Given the description of an element on the screen output the (x, y) to click on. 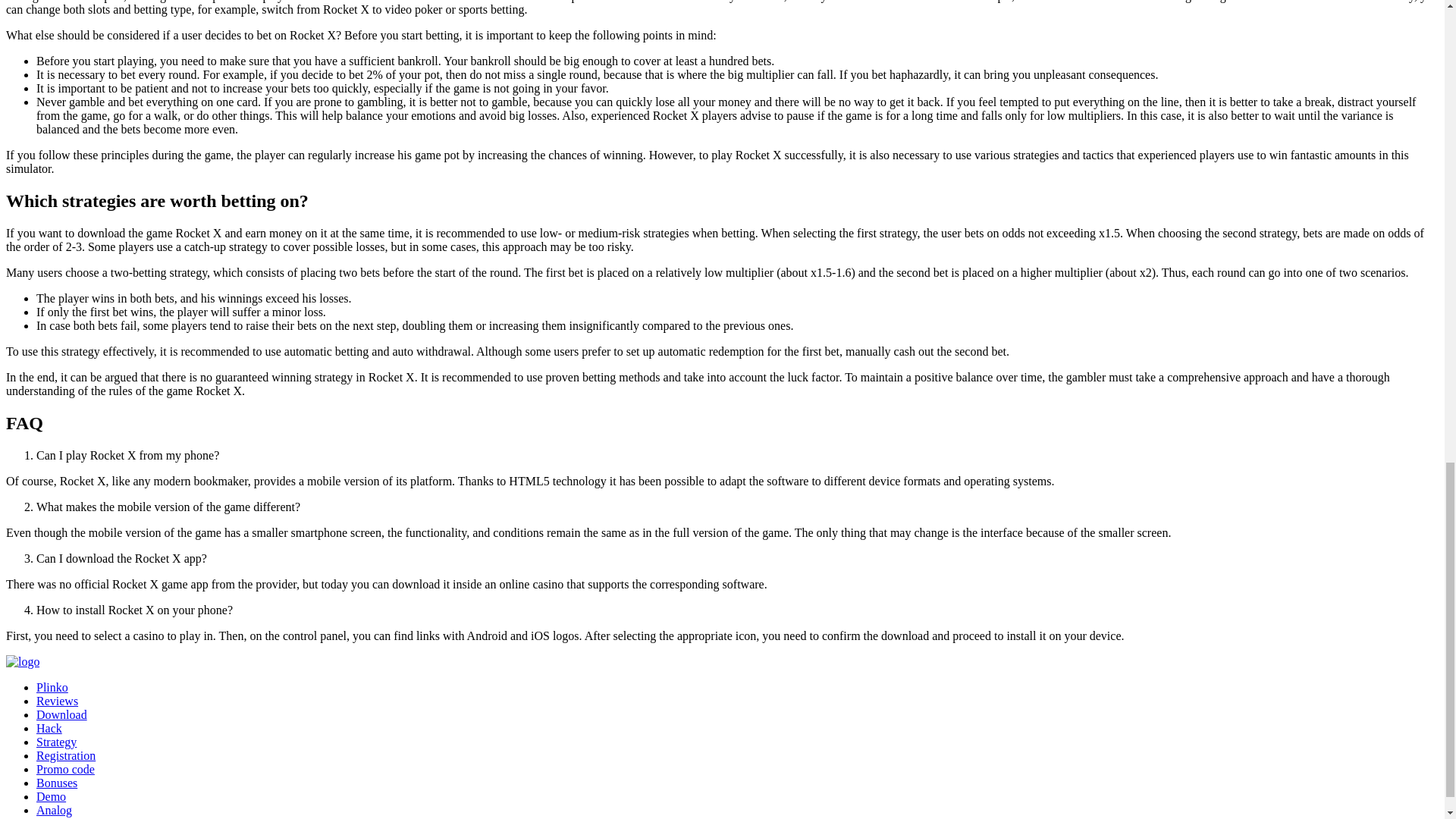
Demo (50, 796)
Strategy (56, 741)
Download (61, 714)
Promo code (65, 768)
Reviews (57, 700)
Plinko (52, 686)
Analog (53, 809)
Bonuses (56, 782)
Hack (49, 727)
Registration (66, 755)
